Given the description of an element on the screen output the (x, y) to click on. 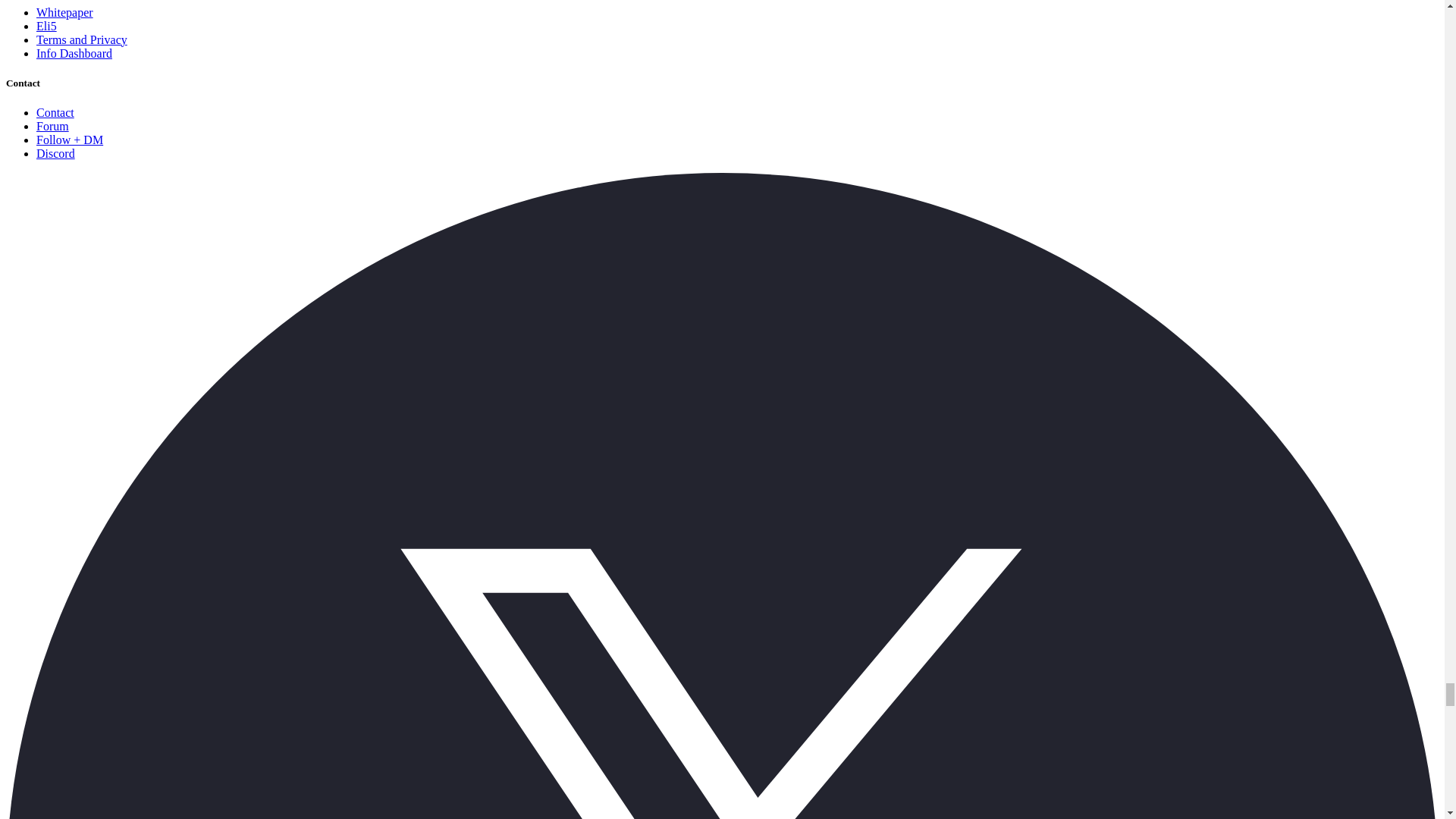
Whitepaper (64, 11)
